Given the description of an element on the screen output the (x, y) to click on. 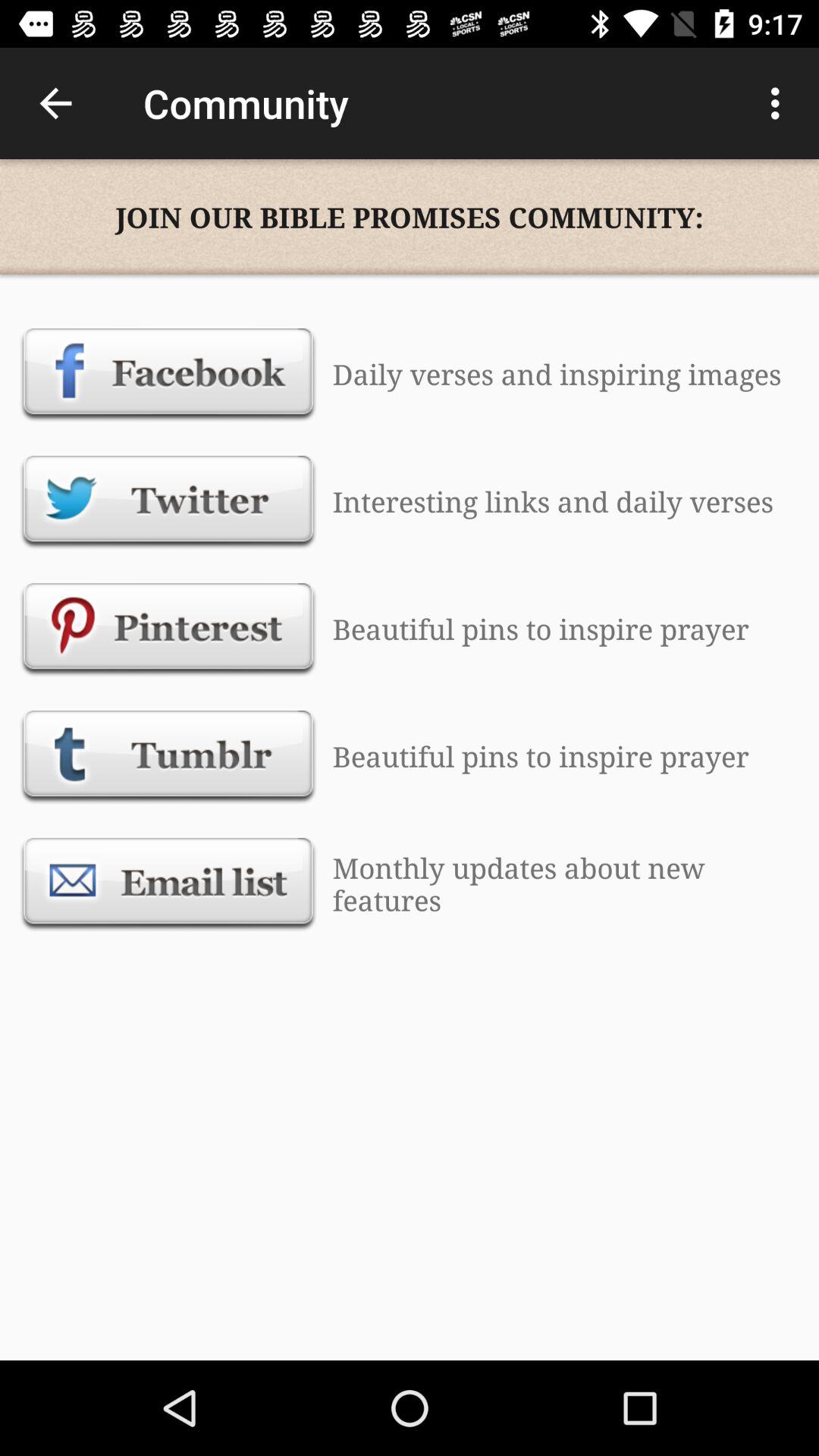
open pinterest (167, 628)
